Given the description of an element on the screen output the (x, y) to click on. 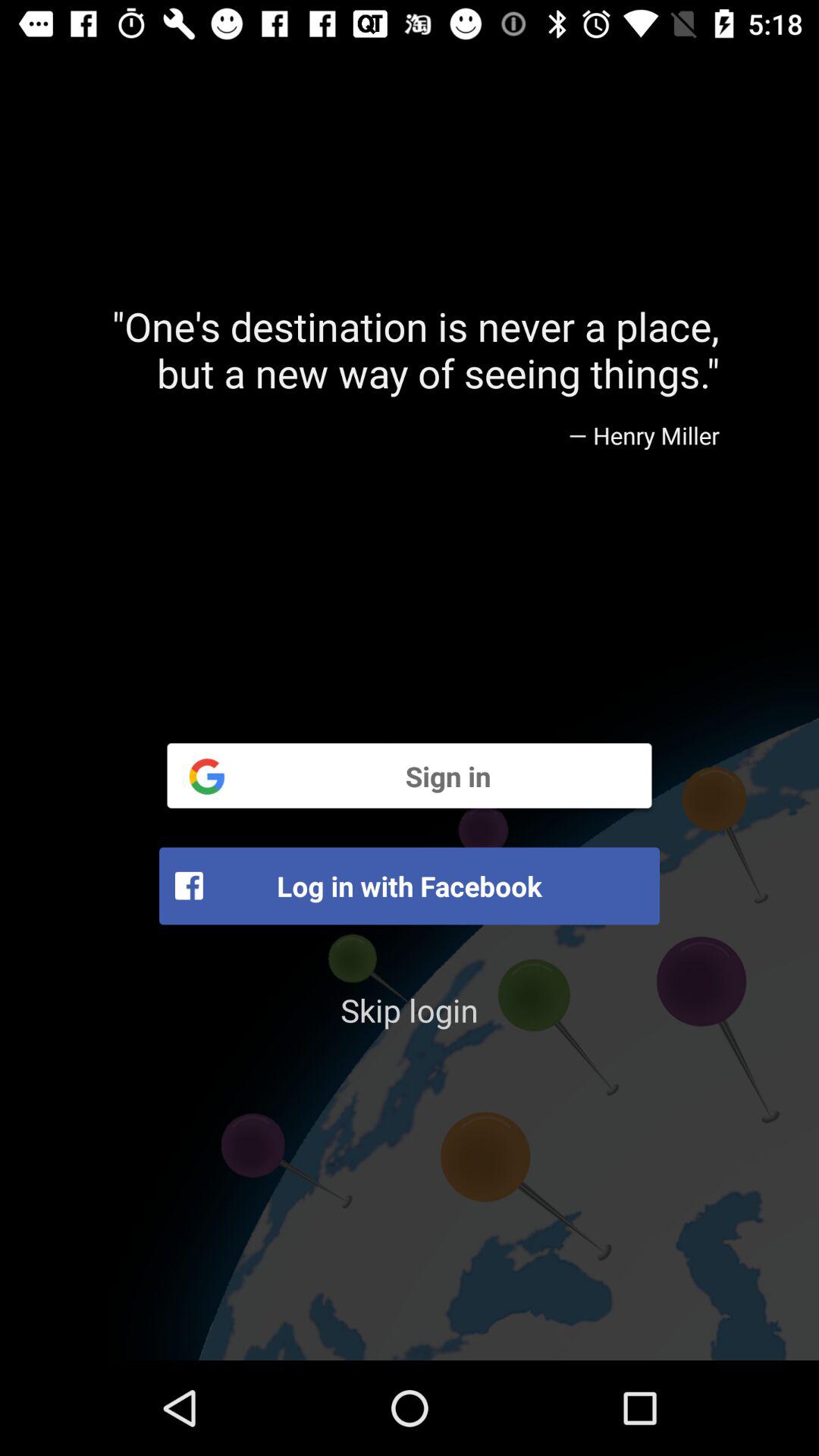
select the sign in item (409, 775)
